Given the description of an element on the screen output the (x, y) to click on. 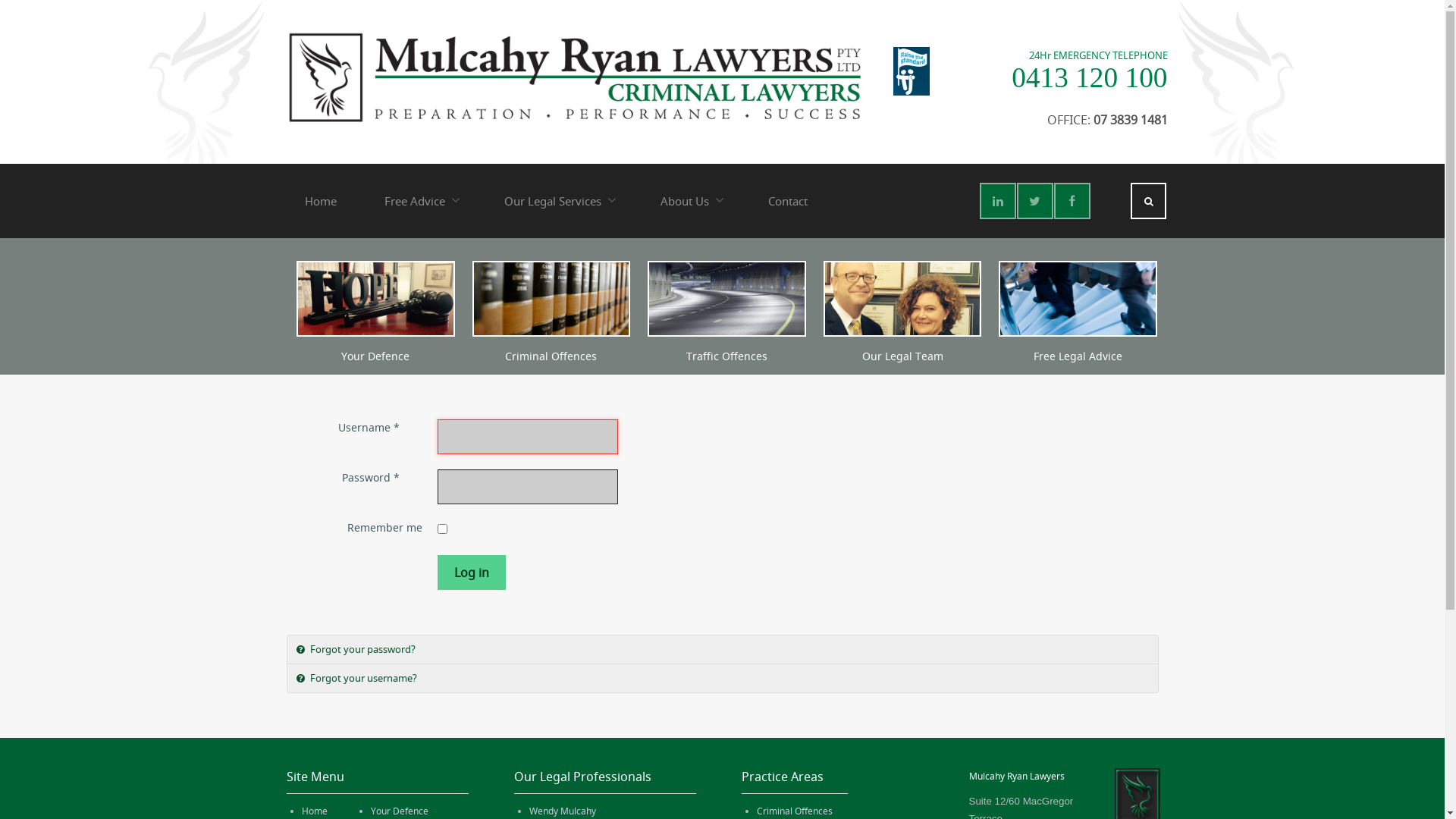
Log in Element type: text (470, 572)
Your Defence Element type: text (398, 810)
Home Element type: text (320, 200)
About Us Element type: text (689, 200)
Our Legal Services Element type: text (557, 200)
Home Element type: text (314, 810)
Forgot your password? Element type: text (722, 649)
Wendy Mulcahy Element type: text (562, 810)
Criminal Offences Element type: text (794, 810)
Our Legal Team Element type: text (902, 355)
Forgot your username? Element type: text (722, 678)
Traffic Offences Element type: text (726, 355)
Contact Element type: text (786, 200)
Your Defence Element type: text (375, 355)
Free Legal Advice Element type: text (1077, 355)
Free Advice Element type: text (419, 200)
Criminal Offences Element type: text (550, 355)
